Given the description of an element on the screen output the (x, y) to click on. 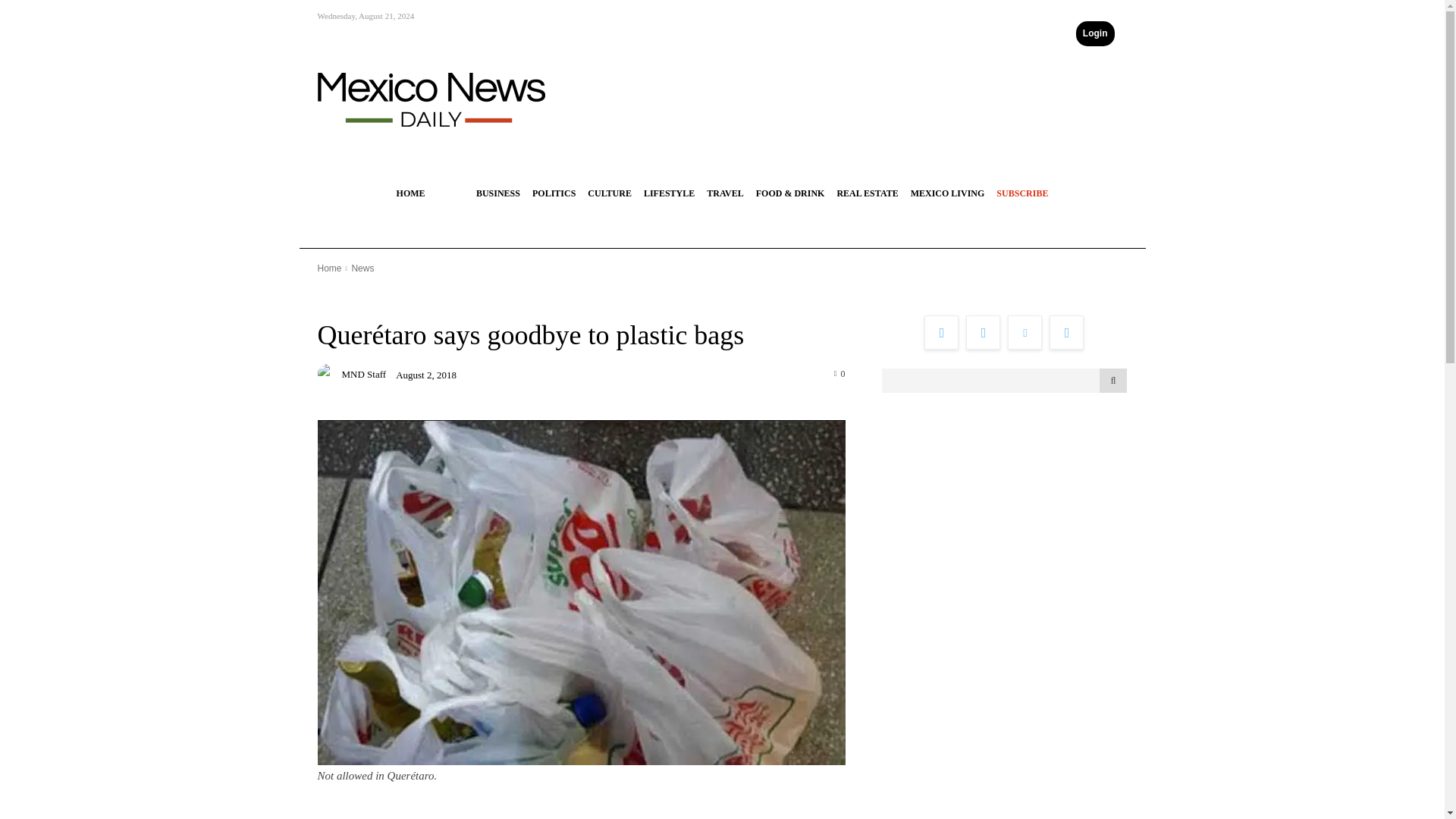
BUSINESS (497, 193)
MND Staff (328, 373)
SUBSCRIBE (1022, 193)
NEWS (450, 193)
POLITICS (552, 193)
TRAVEL (724, 193)
CULTURE (608, 193)
REAL ESTATE (866, 193)
MEXICO LIVING (947, 193)
